Given the description of an element on the screen output the (x, y) to click on. 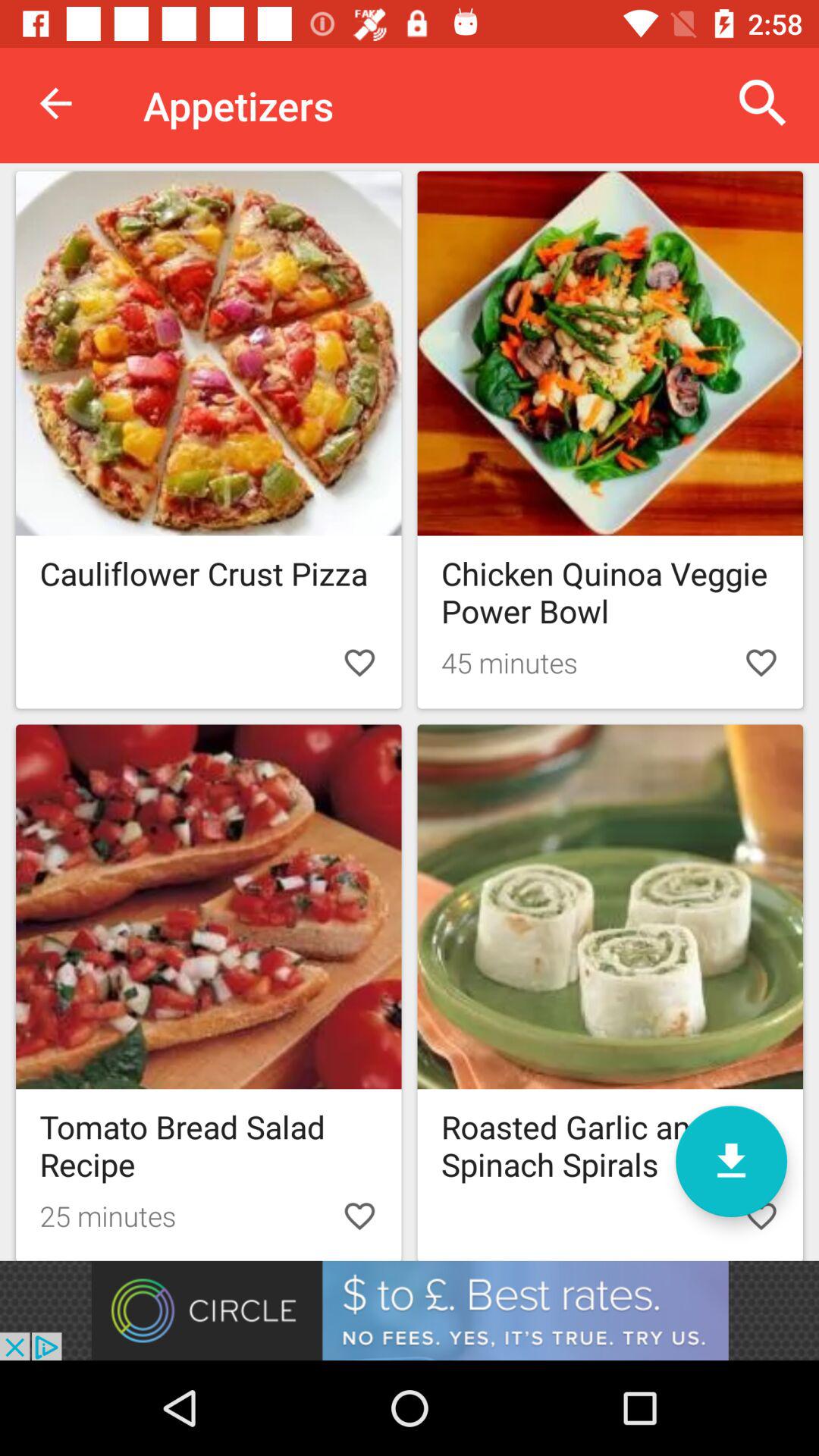
view advertisement site (409, 1310)
